Given the description of an element on the screen output the (x, y) to click on. 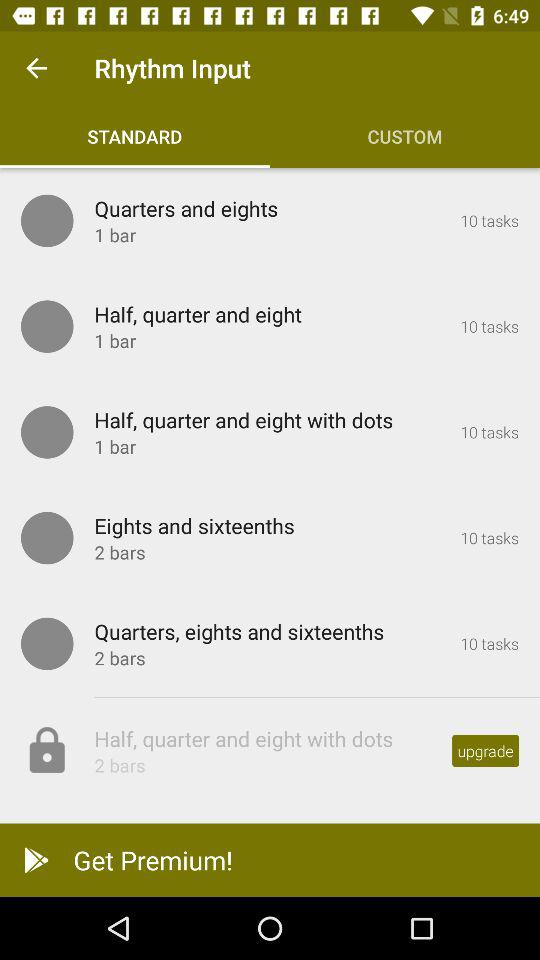
swipe until get premium! item (270, 859)
